Given the description of an element on the screen output the (x, y) to click on. 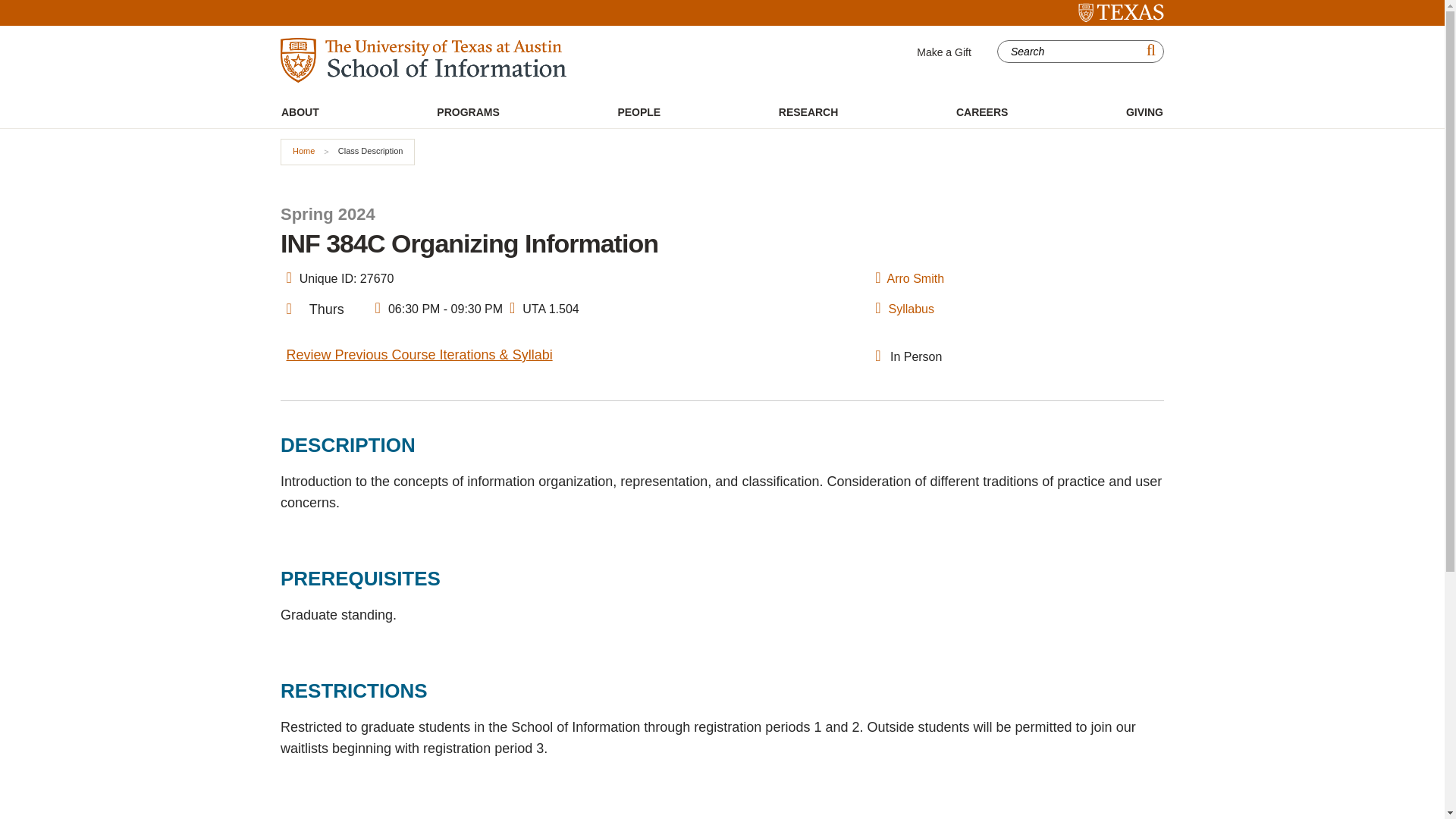
PEOPLE (638, 112)
ABOUT (300, 112)
University of Texas at Austin Home (1120, 12)
RESEARCH (808, 112)
UT iSchool (423, 60)
Search this site (1071, 51)
PROGRAMS (467, 112)
Make a Gift (944, 51)
